Given the description of an element on the screen output the (x, y) to click on. 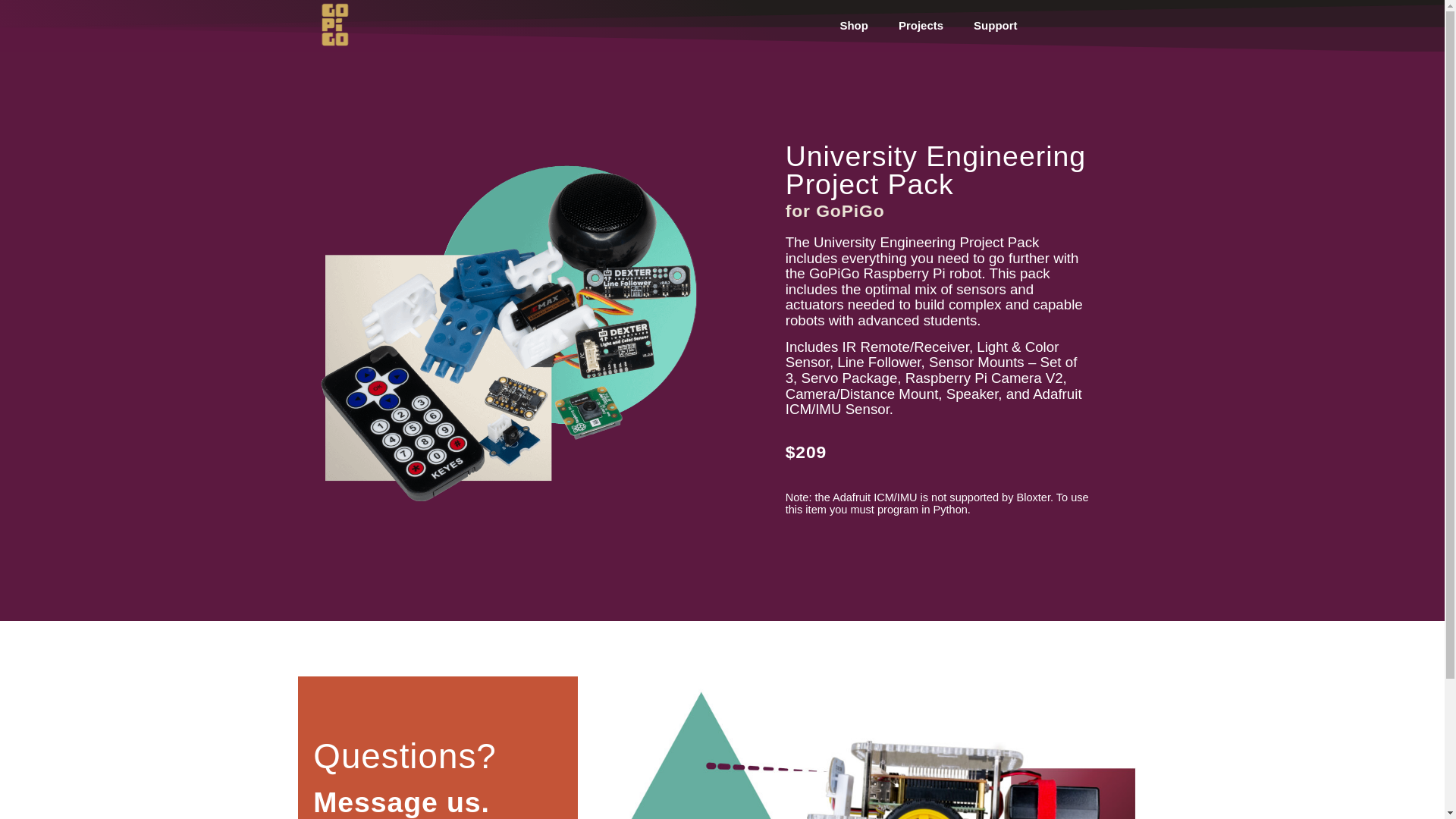
Support (995, 25)
Projects (920, 25)
Shop (853, 25)
